Given the description of an element on the screen output the (x, y) to click on. 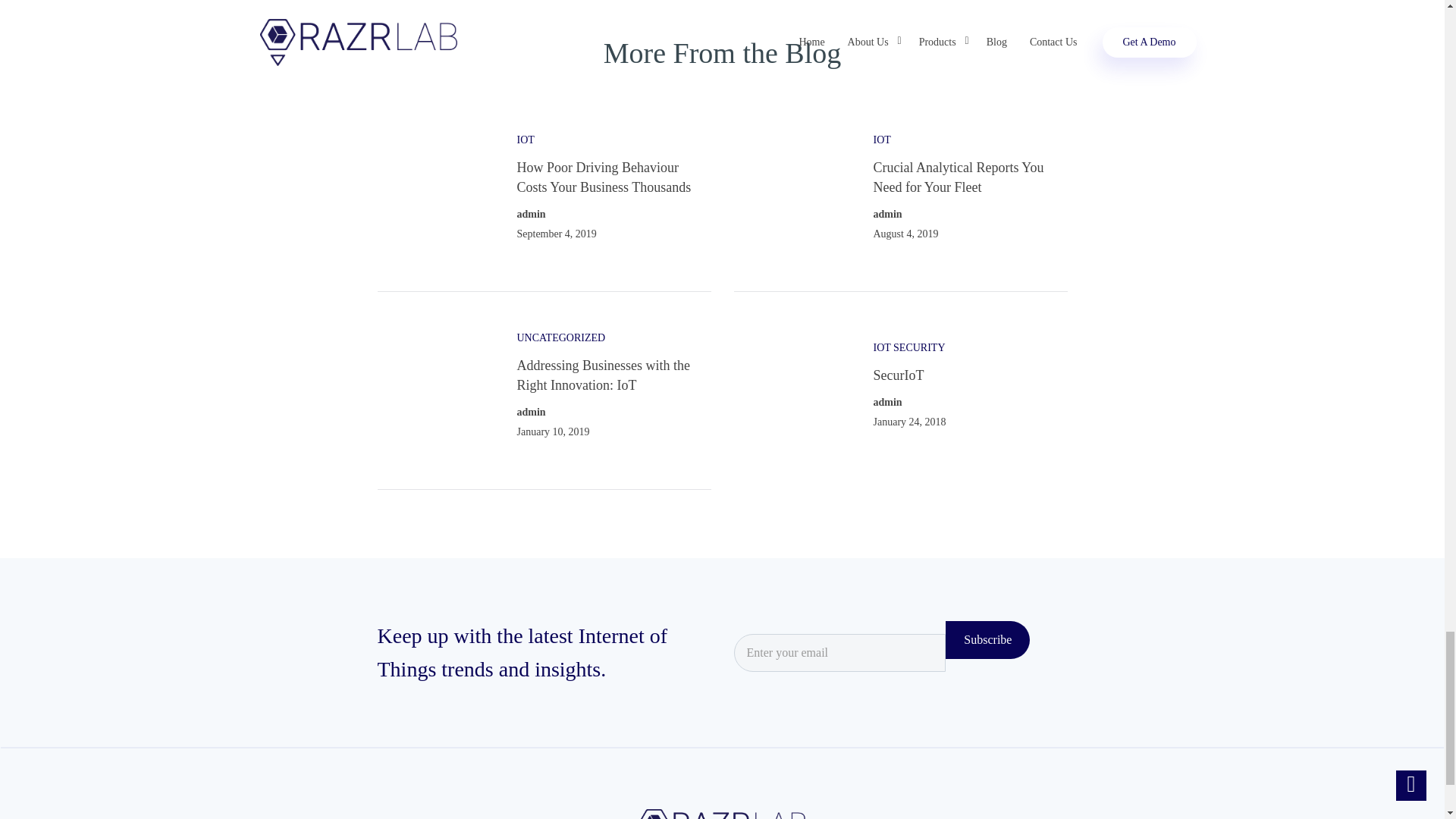
Subscribe (986, 639)
Subscribe (986, 639)
